Given the description of an element on the screen output the (x, y) to click on. 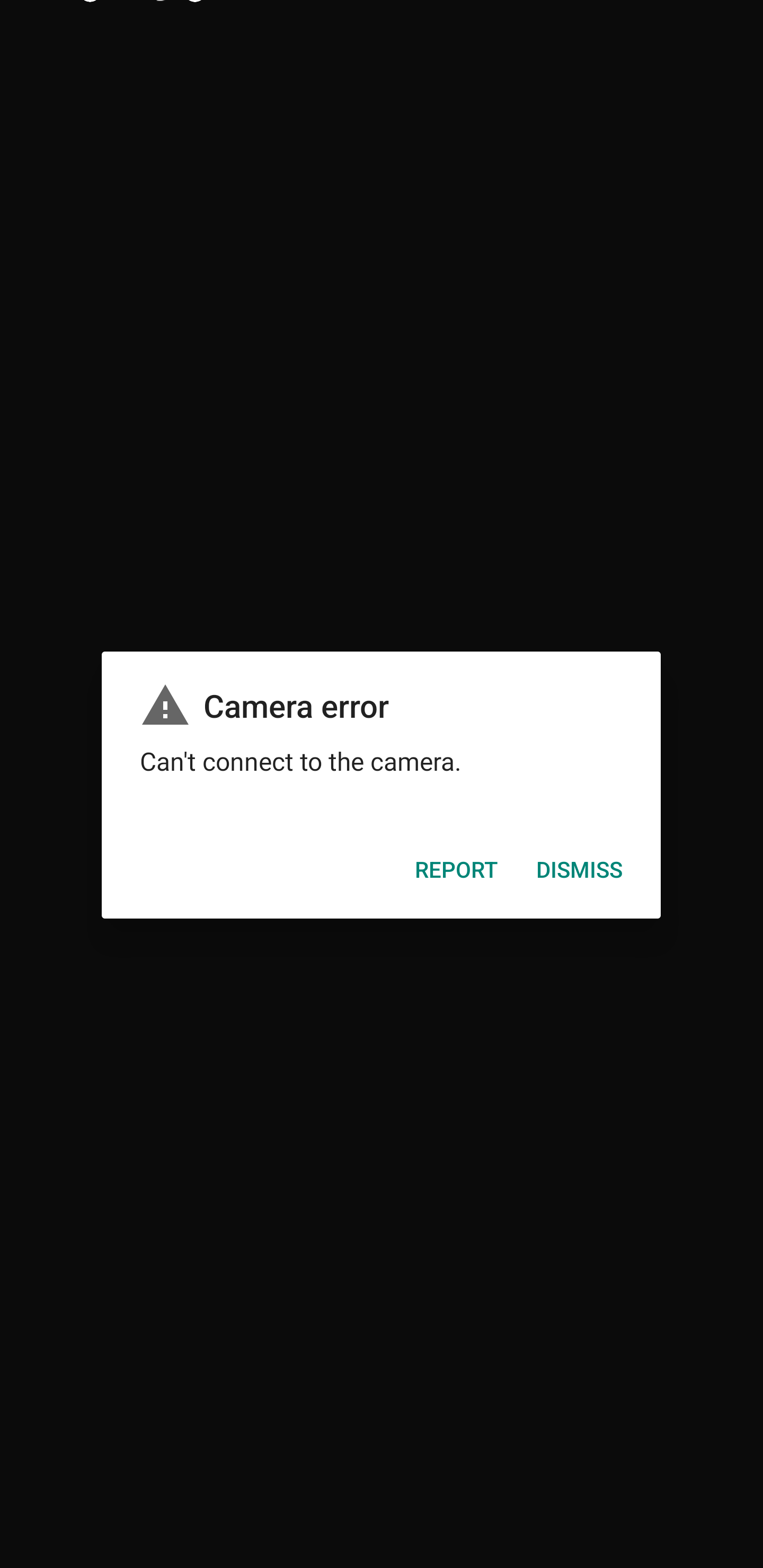
REPORT (456, 875)
DISMISS (579, 875)
